Given the description of an element on the screen output the (x, y) to click on. 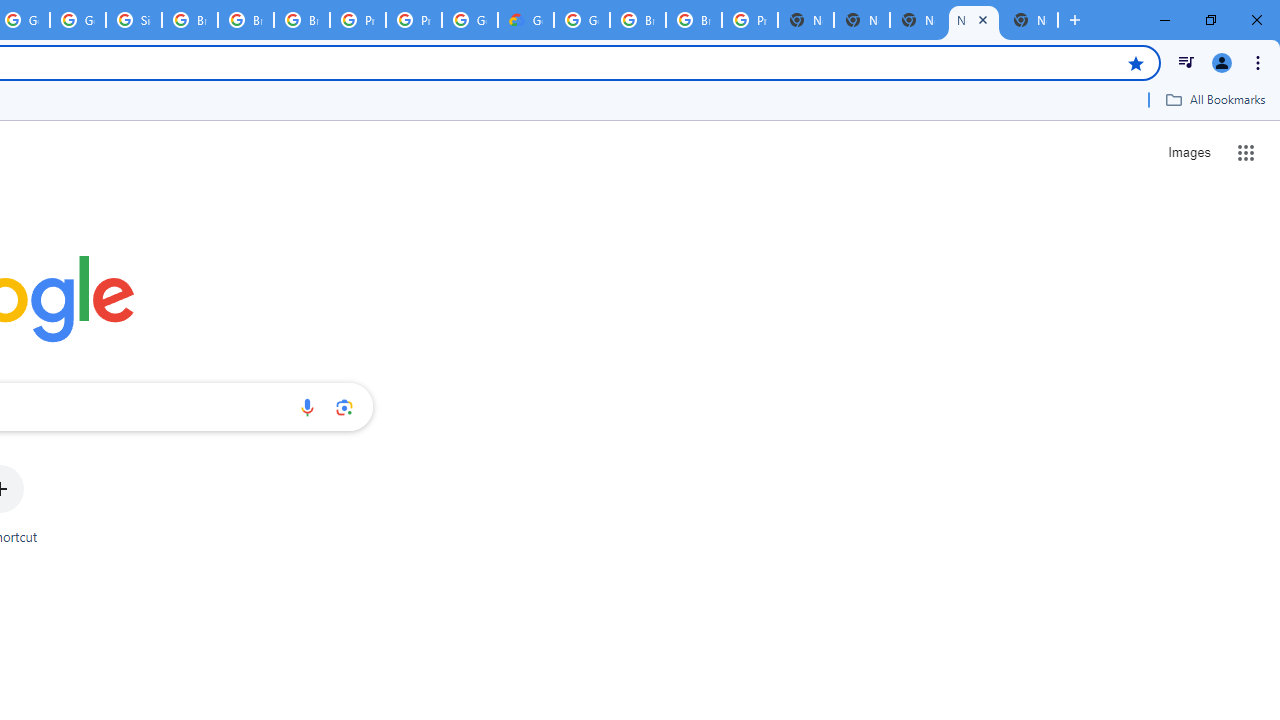
New Tab (1030, 20)
Browse Chrome as a guest - Computer - Google Chrome Help (301, 20)
Google apps (1245, 152)
Search for Images  (1188, 152)
New Tab (806, 20)
Browse Chrome as a guest - Computer - Google Chrome Help (189, 20)
Control your music, videos, and more (1185, 62)
Google Cloud Platform (582, 20)
